Given the description of an element on the screen output the (x, y) to click on. 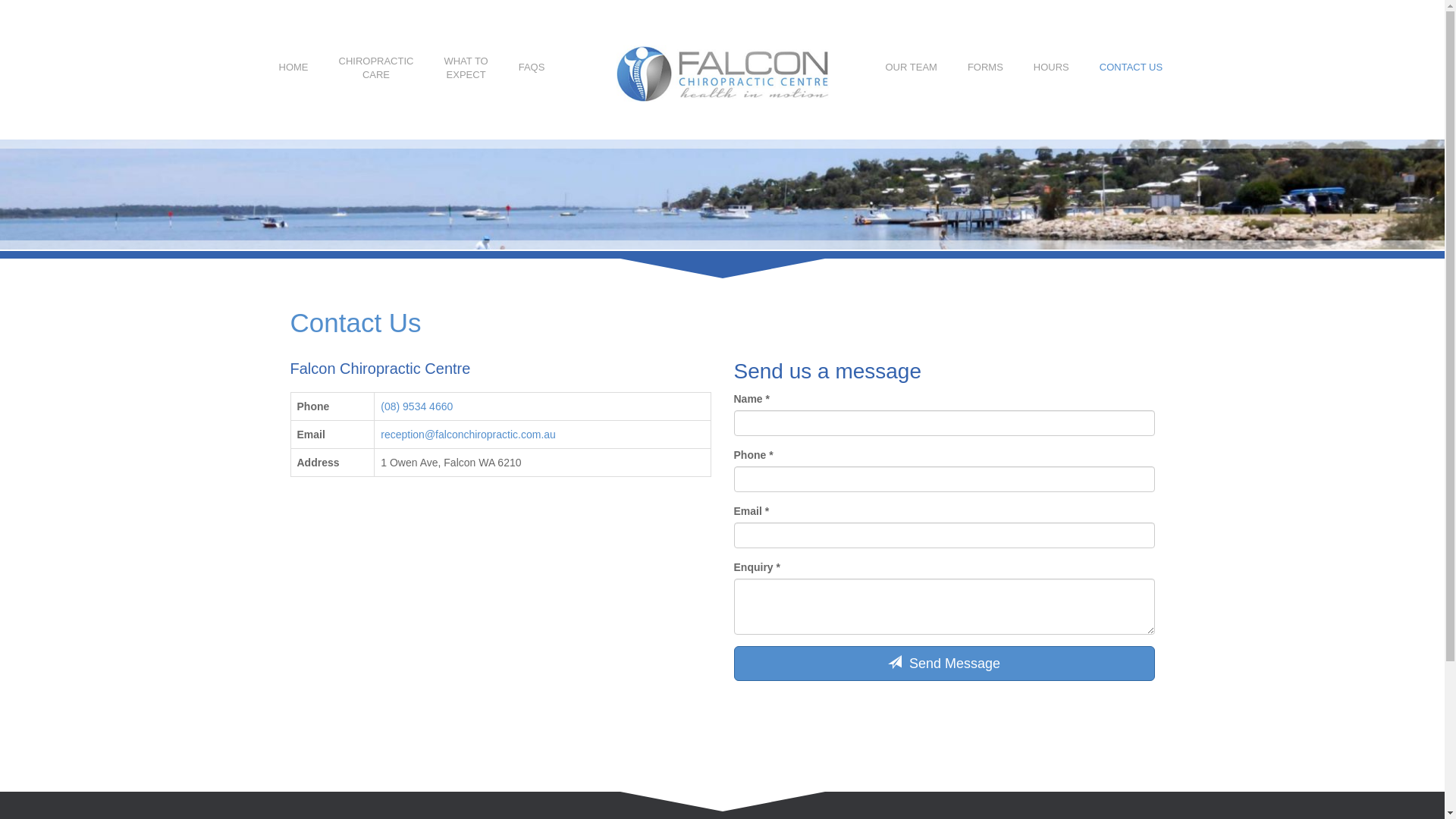
OUR TEAM Element type: text (911, 66)
CHIROPRACTIC
CARE Element type: text (375, 67)
reception@falconchiropractic.com.au Element type: text (467, 434)
FAQS Element type: text (531, 66)
(08) 9534 4660 Element type: text (416, 406)
HOME Element type: text (293, 66)
FORMS Element type: text (985, 66)
WHAT TO
EXPECT Element type: text (465, 67)
HOURS Element type: text (1051, 66)
  Send Message Element type: text (944, 663)
CONTACT US Element type: text (1130, 66)
